Given the description of an element on the screen output the (x, y) to click on. 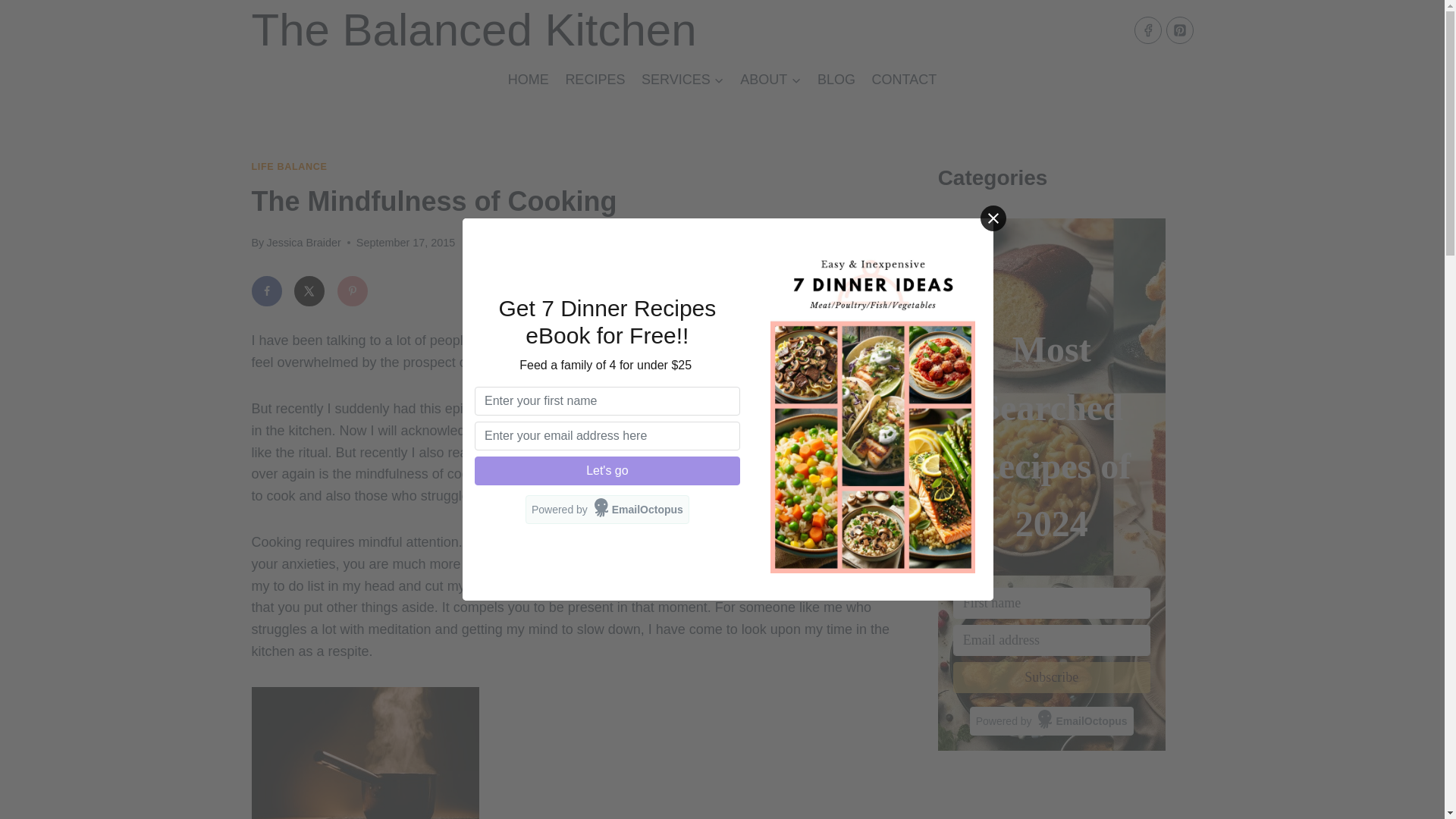
CONTACT (903, 79)
Share on X (309, 291)
BLOG (836, 79)
ABOUT (770, 79)
Save to Pinterest (352, 291)
Share on Facebook (266, 291)
The Balanced Kitchen (474, 30)
HOME (528, 79)
SERVICES (682, 79)
LIFE BALANCE (289, 166)
RECIPES (595, 79)
Let's go (606, 470)
Subscribe (1051, 676)
Jessica Braider (303, 242)
